Given the description of an element on the screen output the (x, y) to click on. 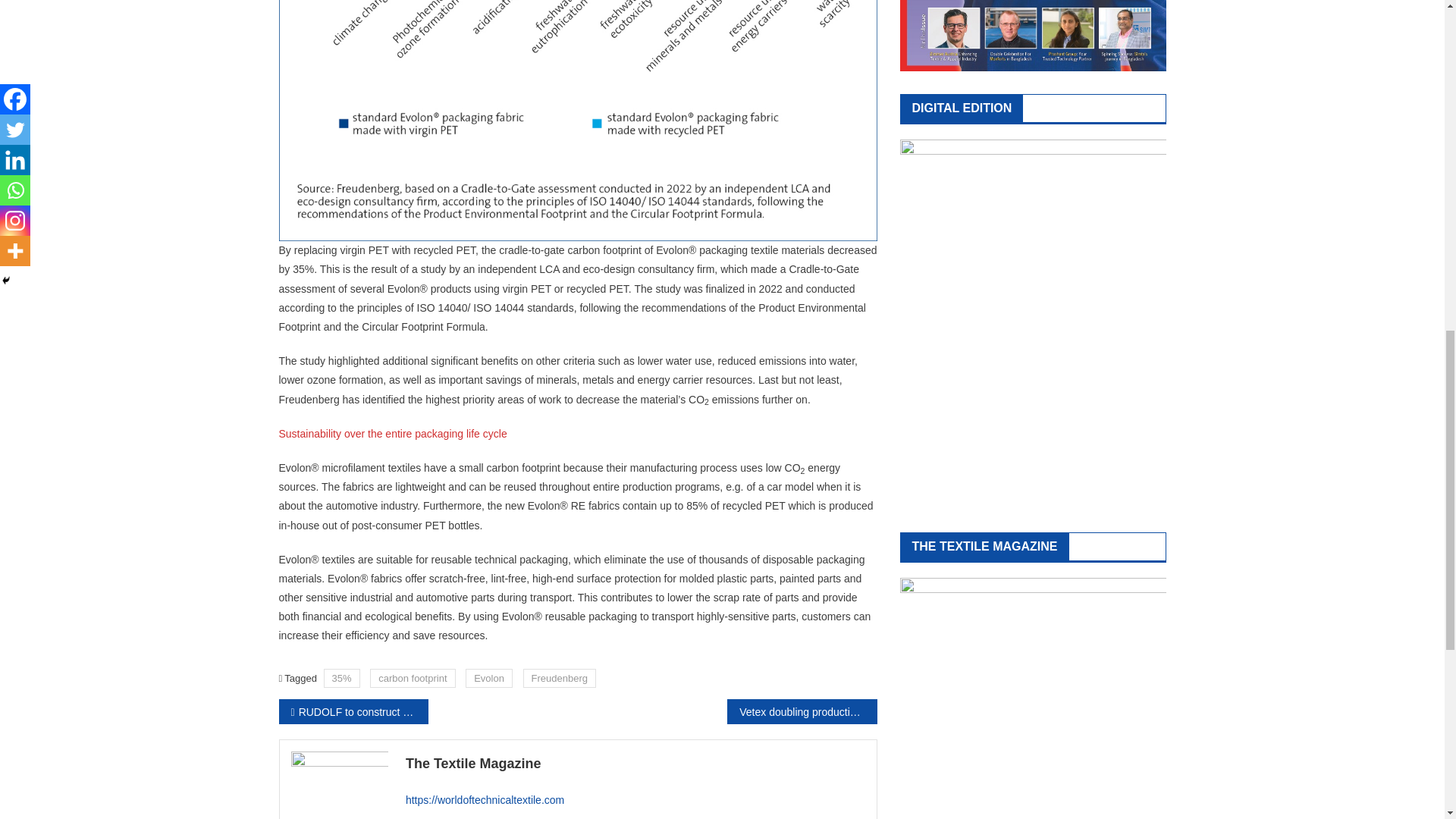
RUDOLF to construct new facility in Bangladesh (353, 711)
carbon footprint (411, 678)
Freudenberg (558, 678)
Evolon (488, 678)
